Given the description of an element on the screen output the (x, y) to click on. 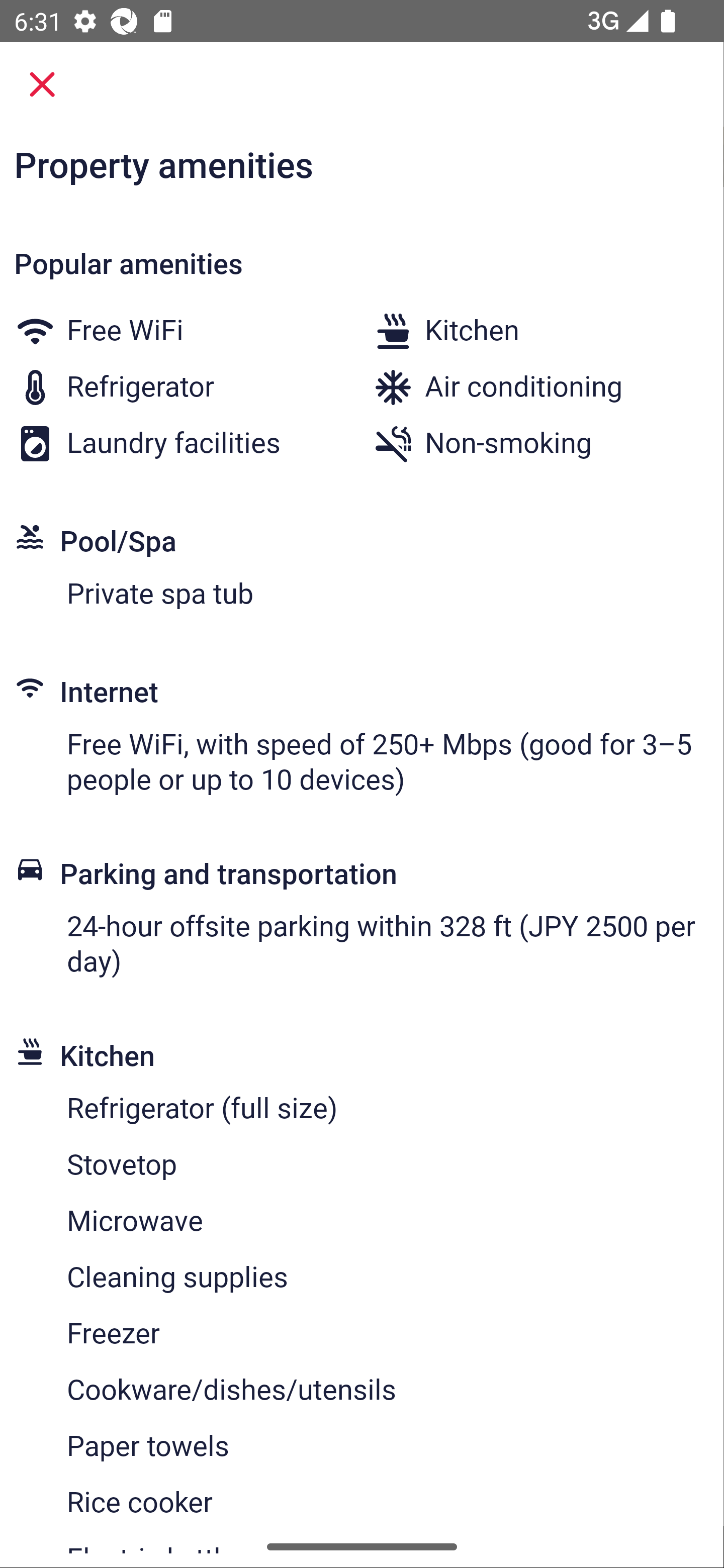
Close (42, 84)
